Given the description of an element on the screen output the (x, y) to click on. 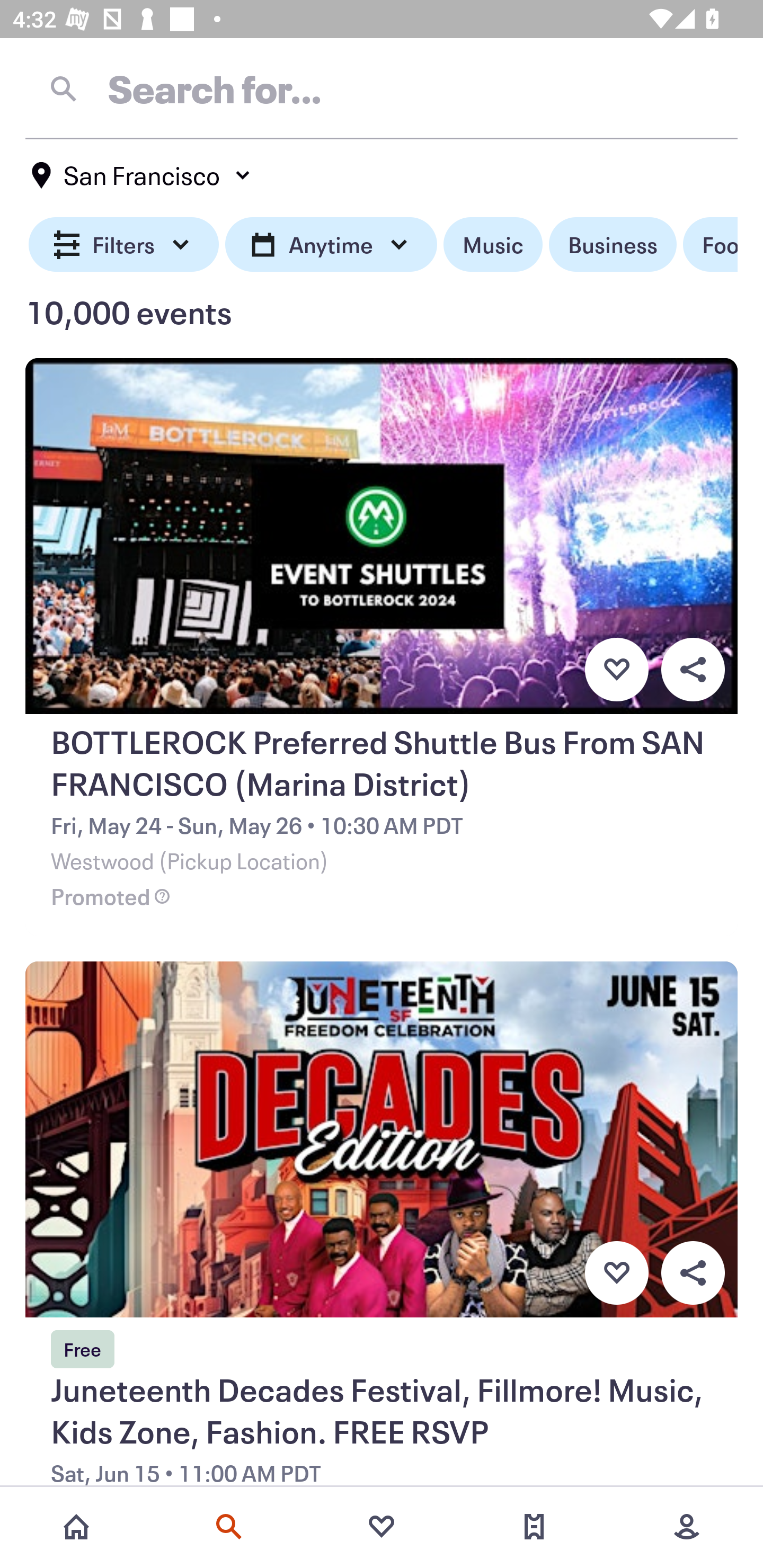
Search for… (381, 88)
San Francisco (141, 175)
Filters (123, 244)
Anytime (331, 244)
Music (492, 244)
Business (612, 244)
Favorite button (616, 669)
Overflow menu button (692, 669)
Favorite button (616, 1272)
Overflow menu button (692, 1272)
Home (76, 1526)
Search events (228, 1526)
Favorites (381, 1526)
Tickets (533, 1526)
More (686, 1526)
